Given the description of an element on the screen output the (x, y) to click on. 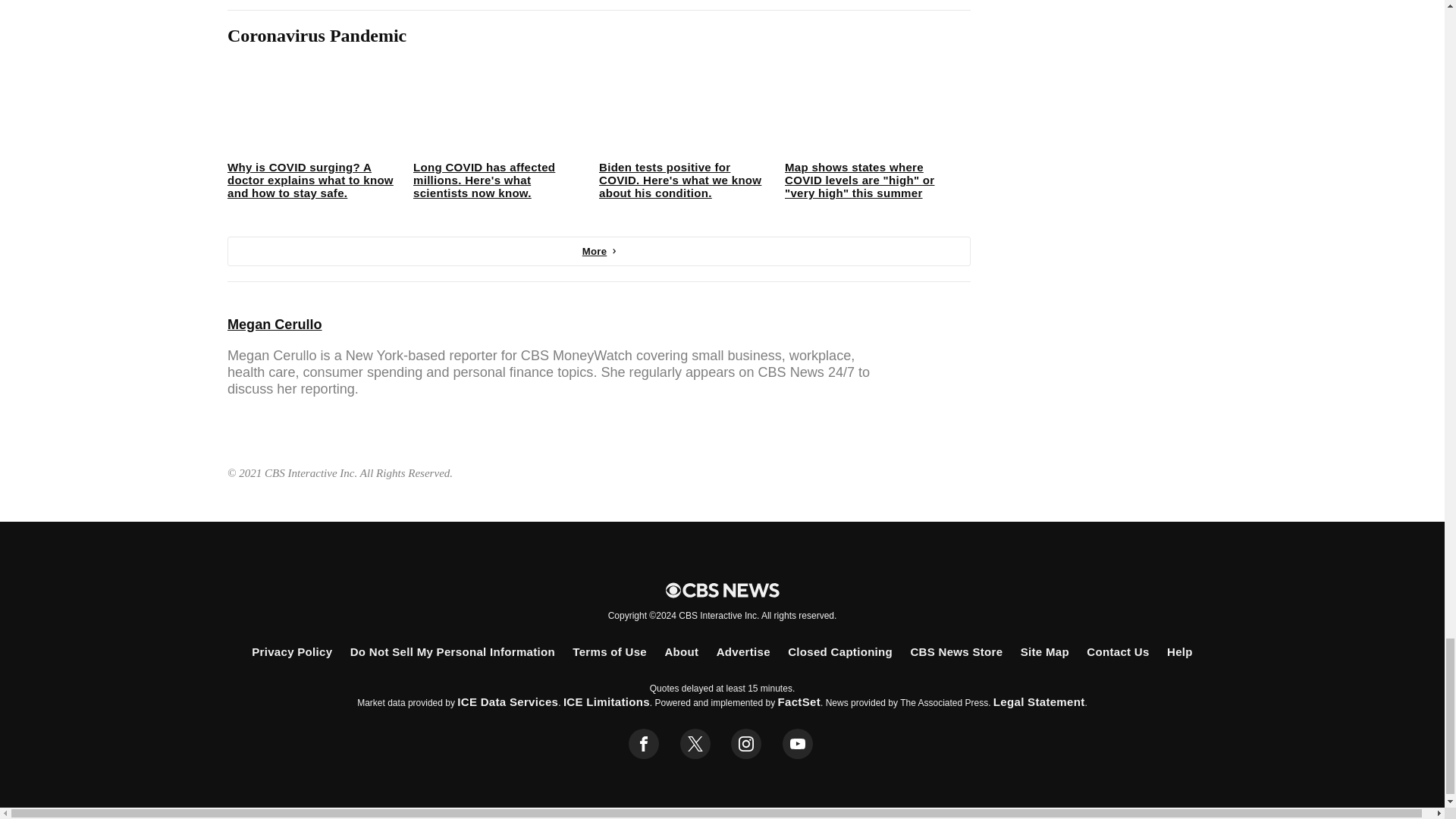
twitter (694, 743)
instagram (745, 743)
youtube (797, 743)
facebook (643, 743)
